Given the description of an element on the screen output the (x, y) to click on. 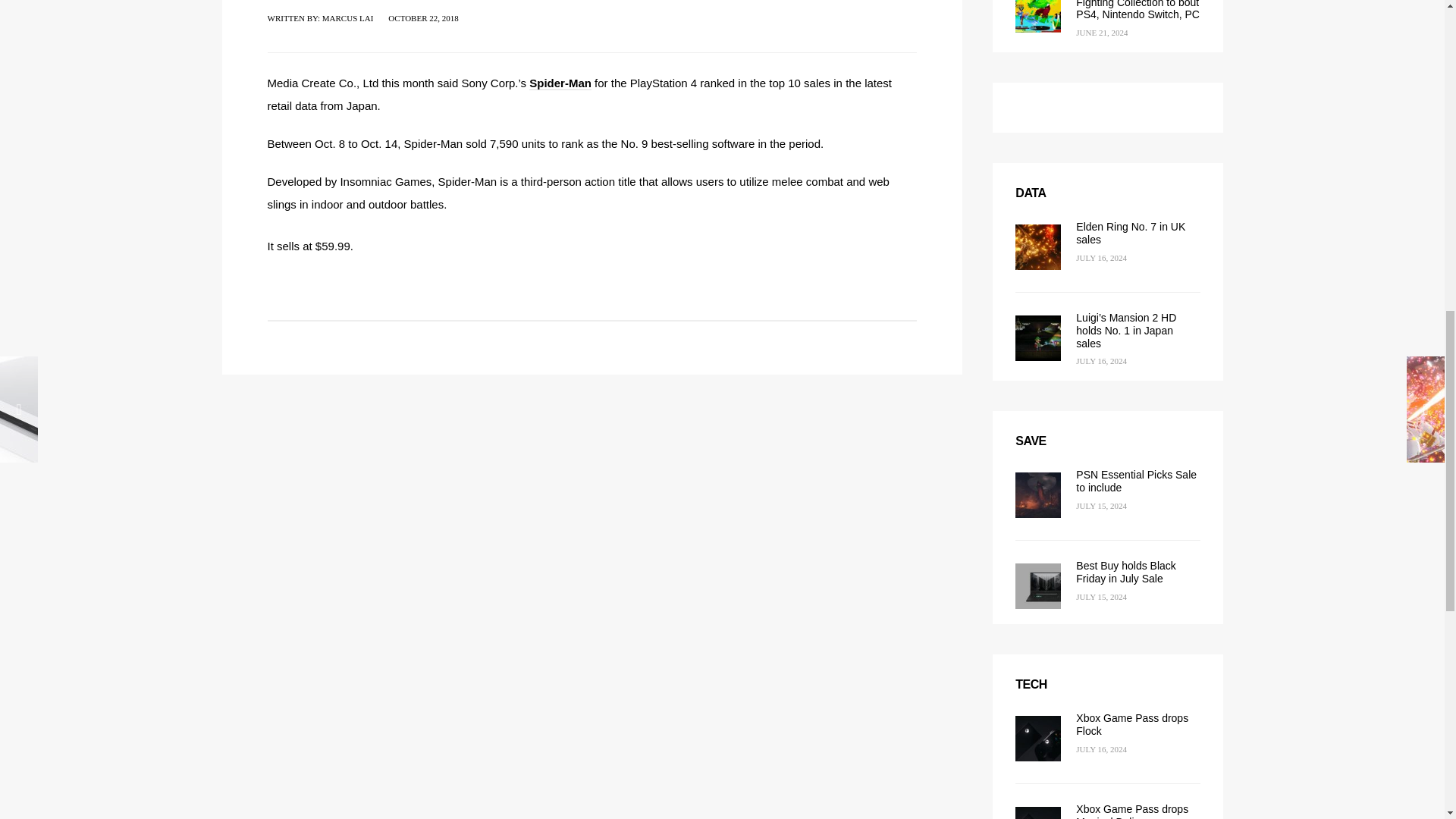
Spider-Man (560, 83)
MARCUS LAI (347, 17)
Posts by MARCUS LAI (347, 17)
